Given the description of an element on the screen output the (x, y) to click on. 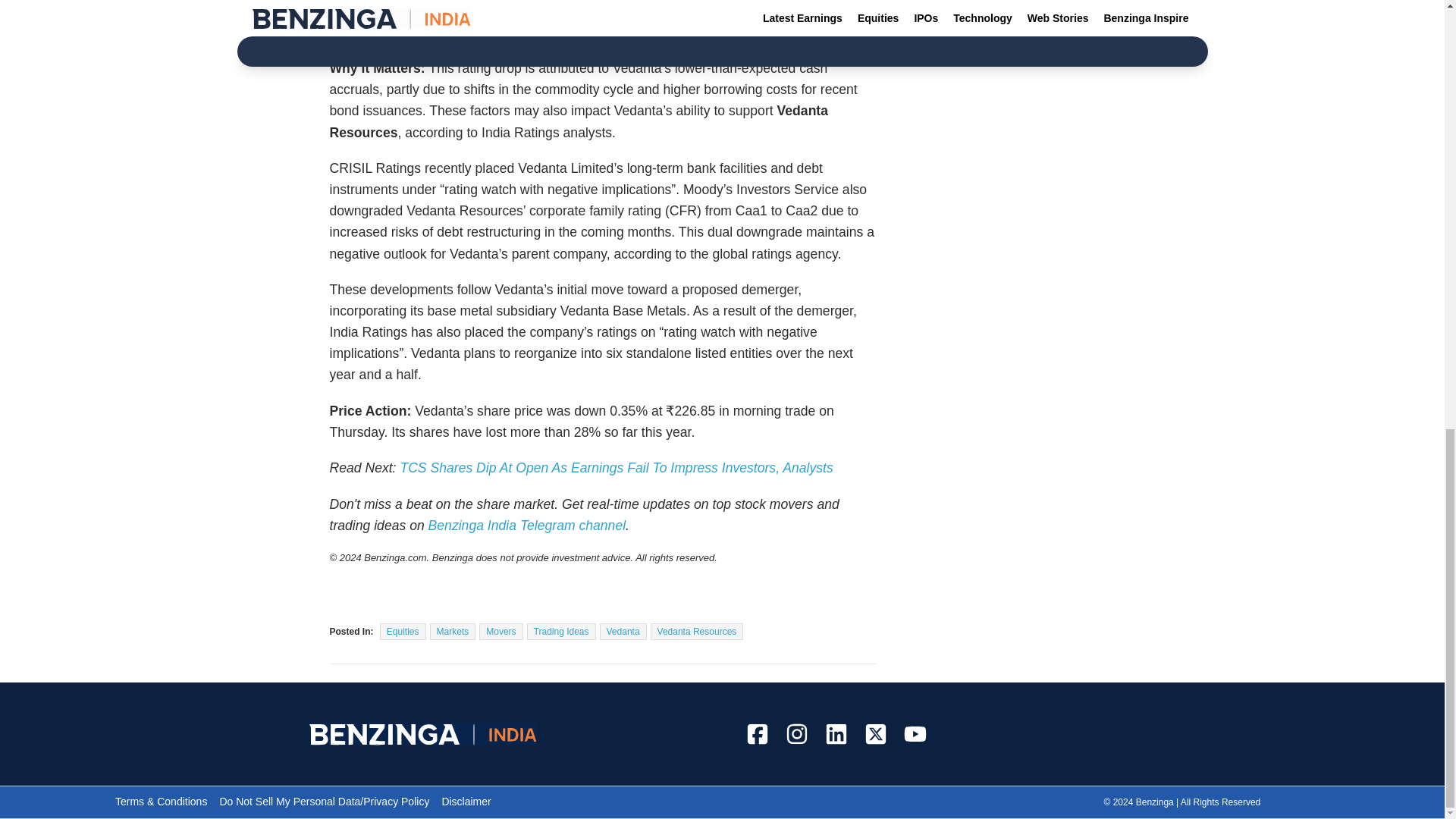
Disclaimer (465, 801)
Benzinga India Telegram channel (527, 525)
Vedanta (622, 631)
Movers (500, 631)
Equities (403, 631)
Markets (452, 631)
Vedanta Resources (697, 631)
Trading Ideas (561, 631)
